Given the description of an element on the screen output the (x, y) to click on. 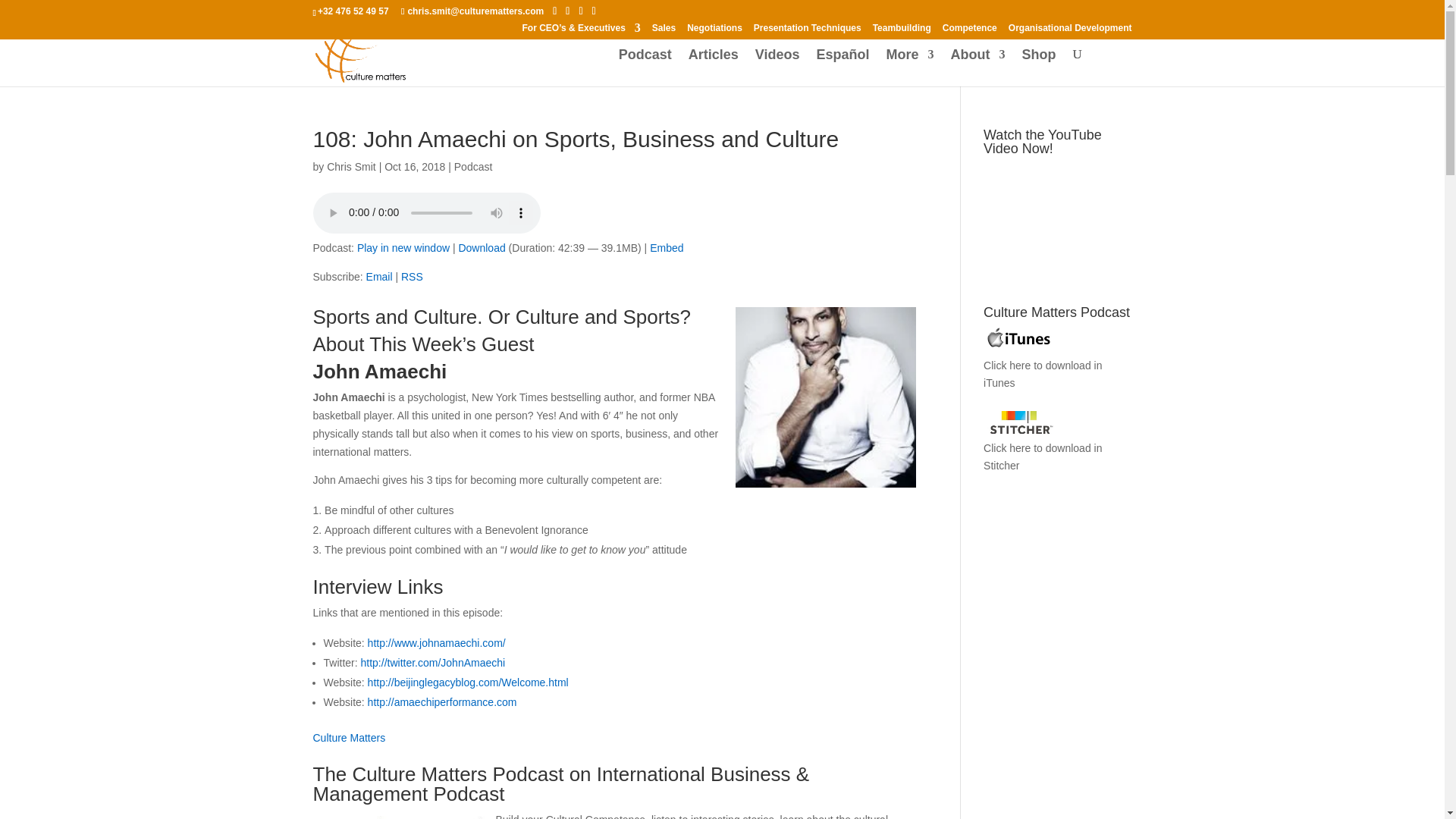
Podcast (644, 66)
Subscribe via RSS (412, 276)
Presentation Techniques (807, 31)
Play in new window (402, 247)
Sales (663, 31)
Subscribe by Email (379, 276)
About (978, 66)
Download (481, 247)
Organisational Development (1070, 31)
Posts by Chris Smit (350, 166)
